Given the description of an element on the screen output the (x, y) to click on. 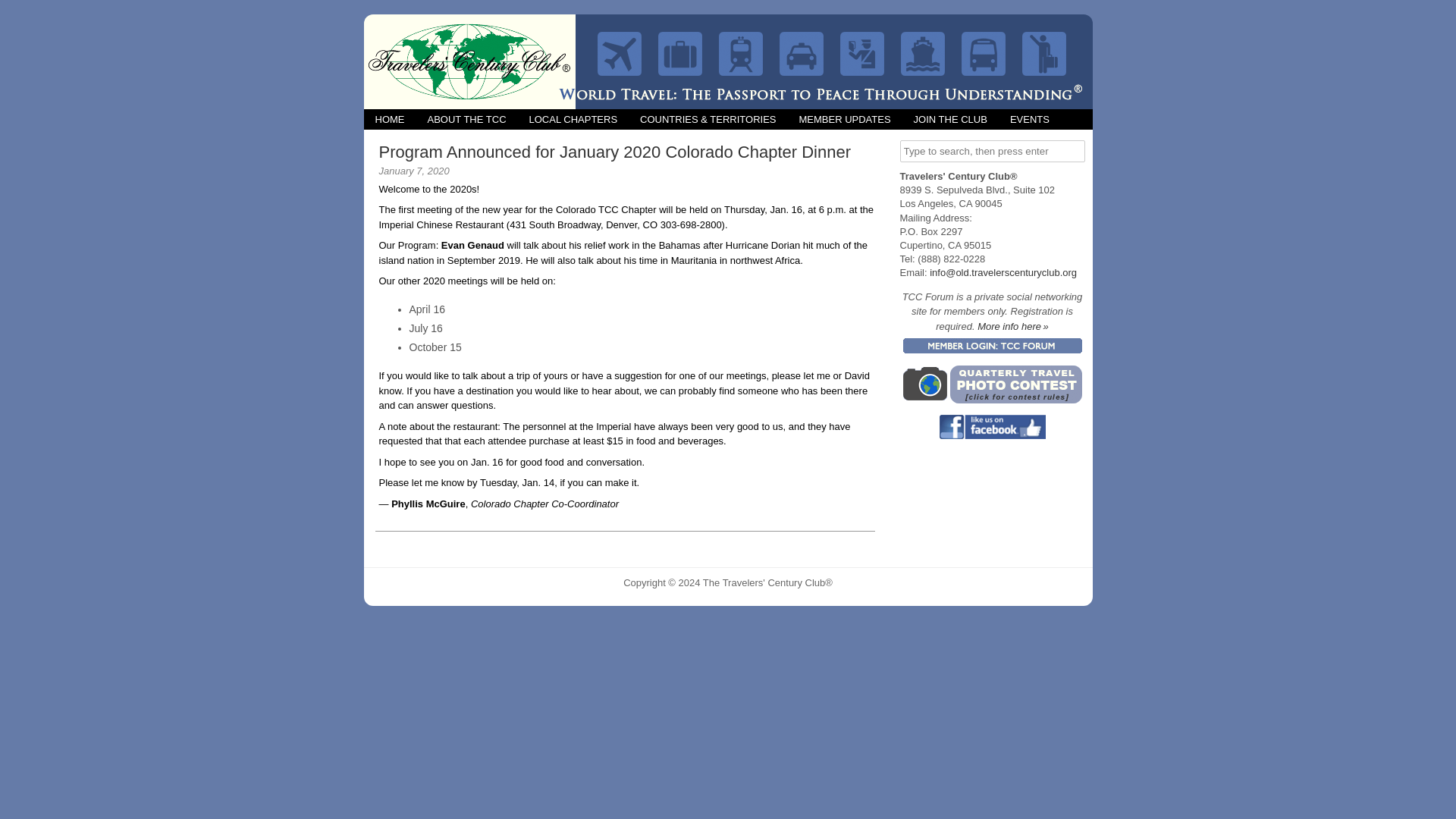
HOME (390, 118)
ABOUT THE TCC (465, 118)
Type to search, then press enter (991, 151)
LOCAL CHAPTERS (573, 118)
